Given the description of an element on the screen output the (x, y) to click on. 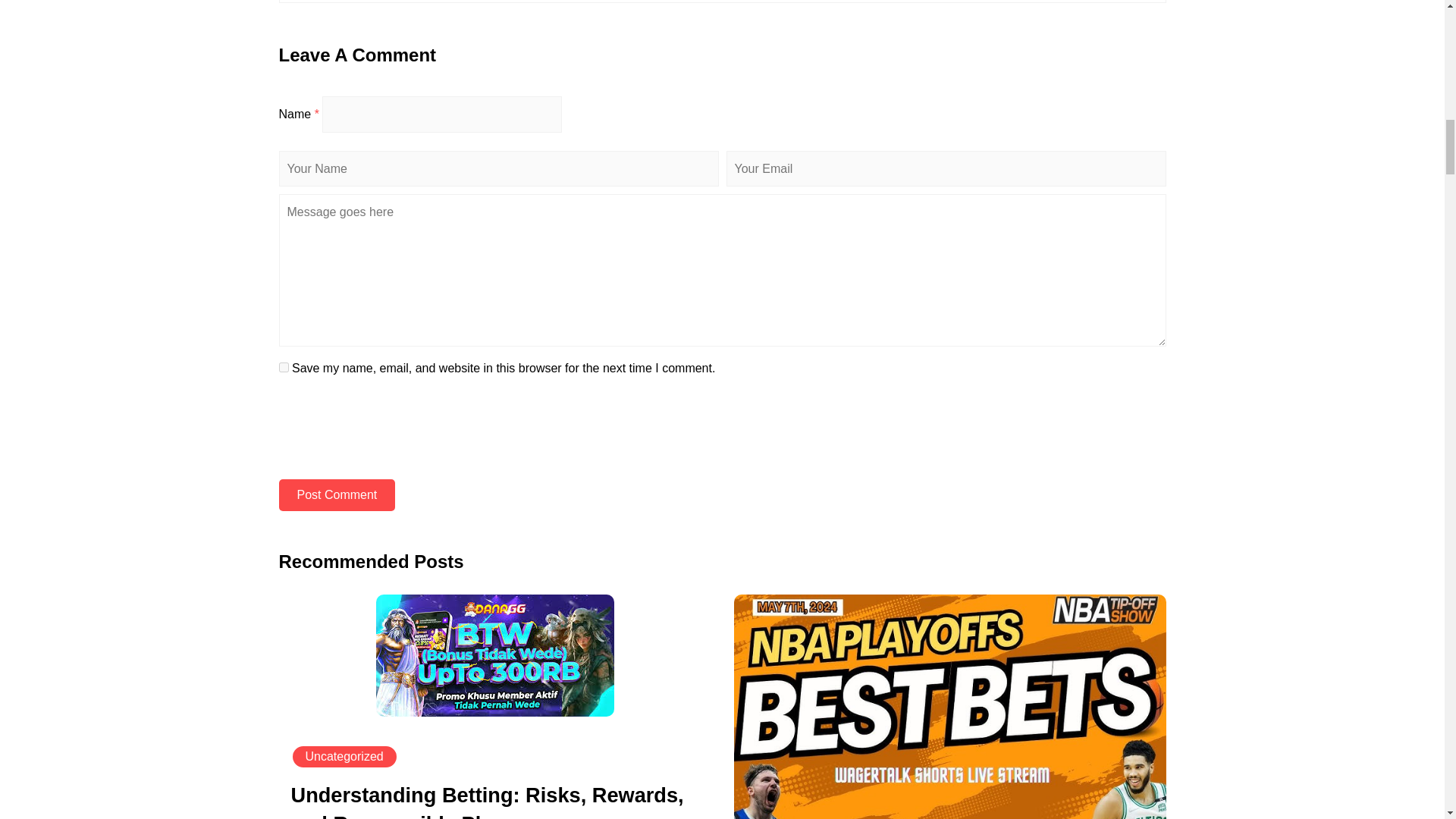
Understanding Betting: Risks, Rewards, and Responsible Play (487, 805)
yes (283, 367)
Post Comment (337, 495)
Uncategorized (344, 756)
reCAPTCHA (394, 432)
